Given the description of an element on the screen output the (x, y) to click on. 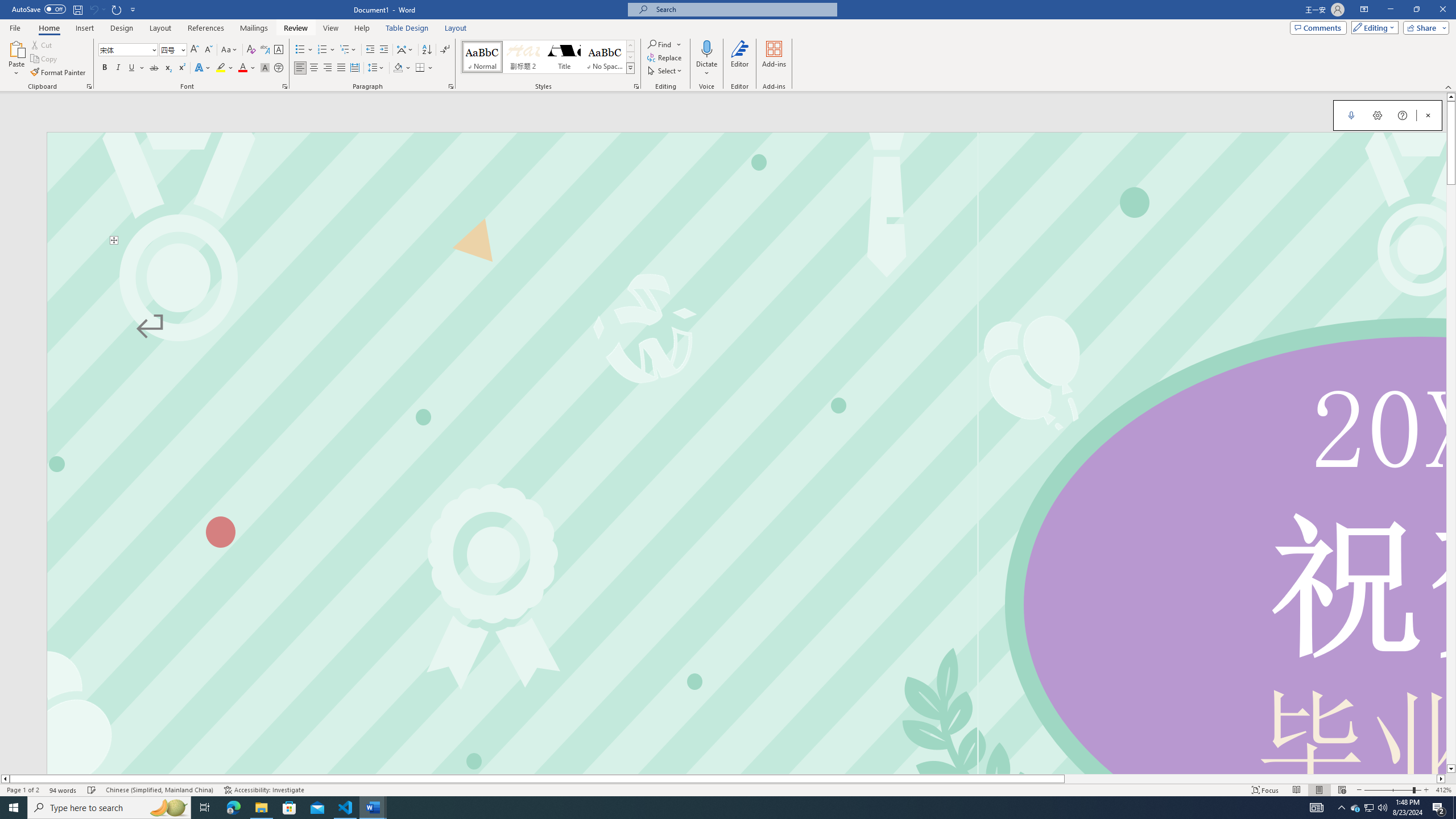
Open (182, 49)
Change Case (229, 49)
Repeat Start Office Dictation (117, 9)
Strikethrough (154, 67)
Superscript (180, 67)
Word Count 94 words (63, 790)
Paragraph... (450, 85)
